Given the description of an element on the screen output the (x, y) to click on. 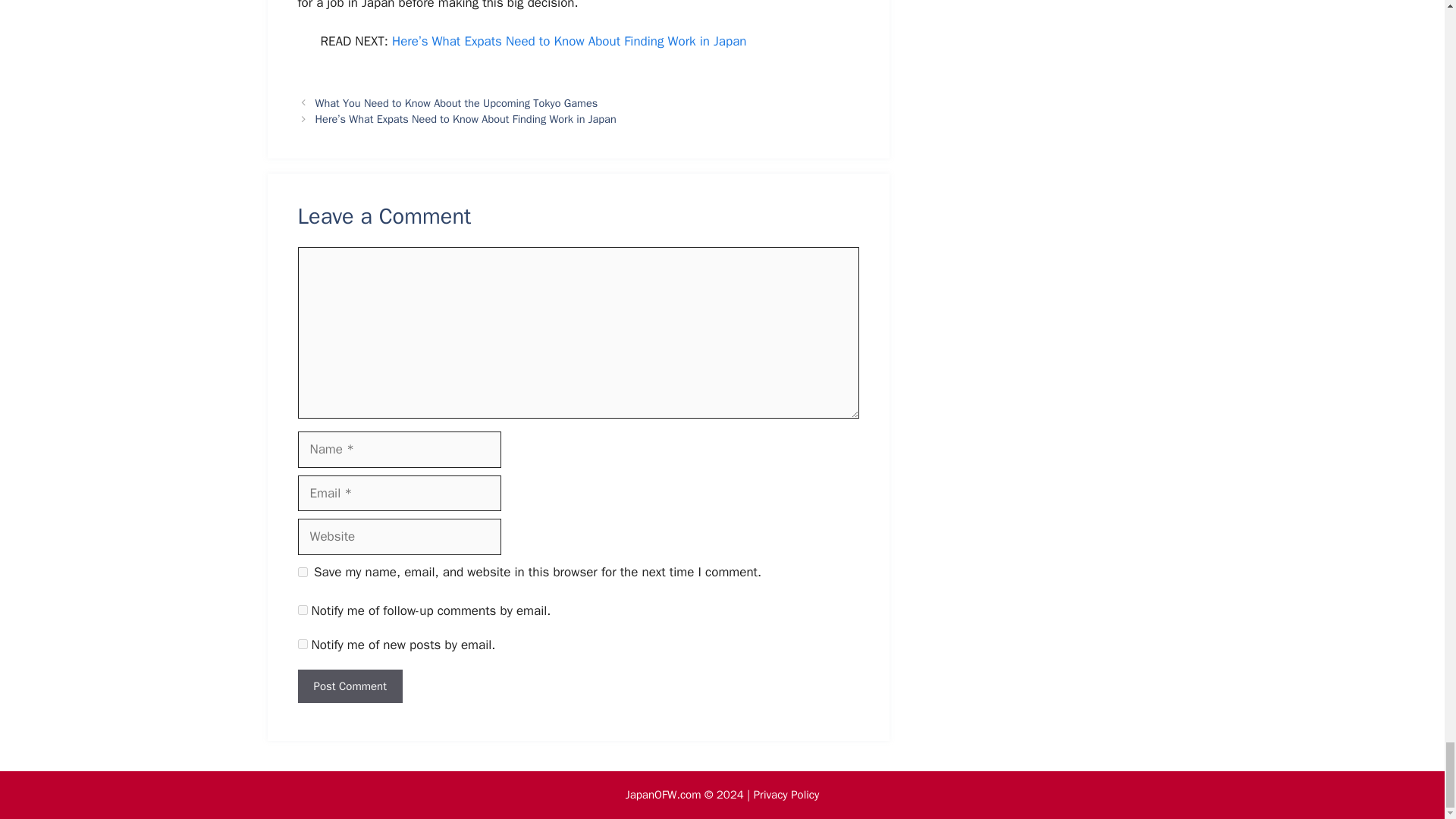
Post Comment (349, 686)
What You Need to Know About the Upcoming Tokyo Games (456, 102)
Post Comment (349, 686)
subscribe (302, 610)
subscribe (302, 644)
yes (302, 572)
